Given the description of an element on the screen output the (x, y) to click on. 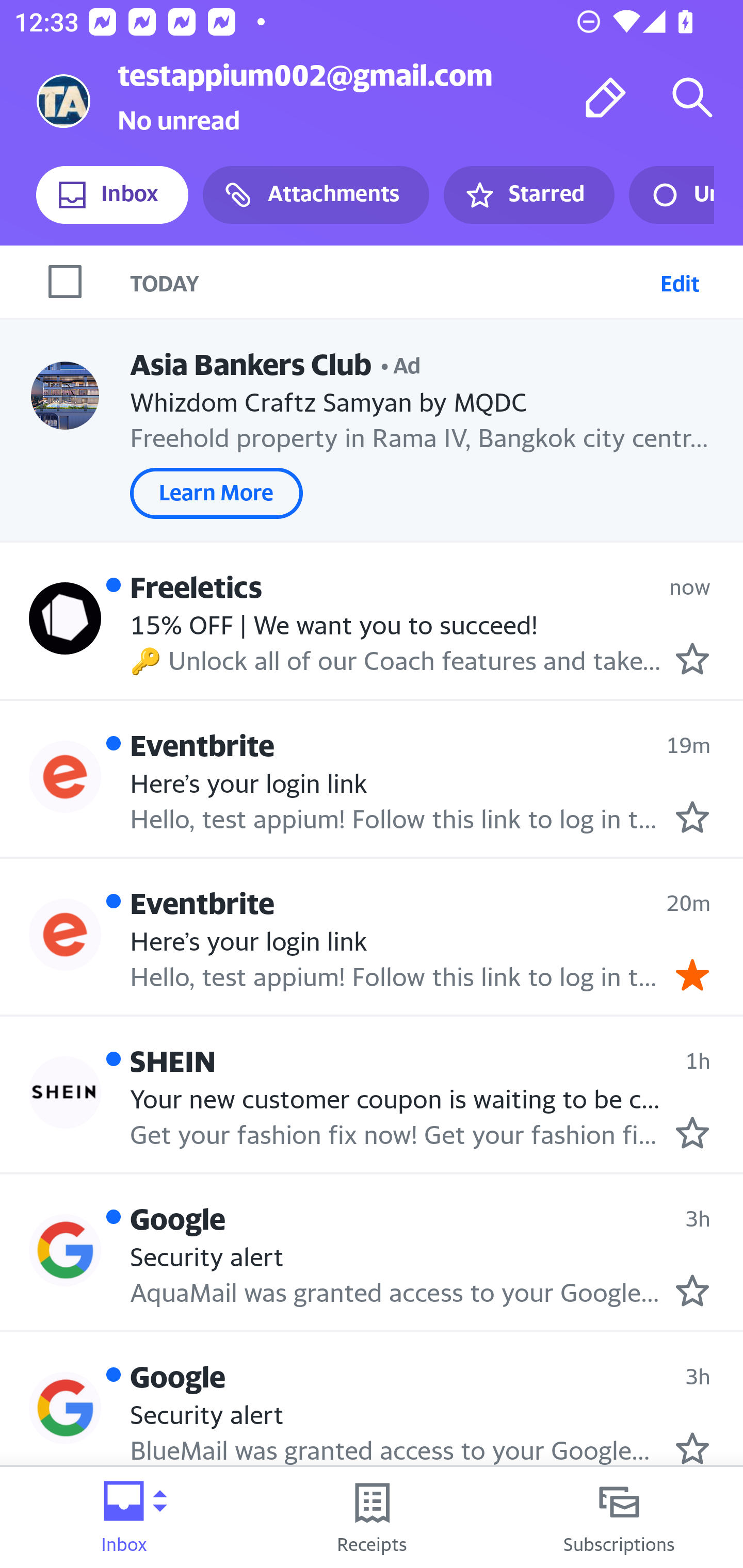
Compose (605, 97)
Search mail (692, 97)
Attachments (315, 195)
Starred (528, 195)
TODAY (391, 281)
Edit Select emails (679, 281)
Profile
Freeletics (64, 617)
Mark as starred. (692, 659)
Profile
Eventbrite (64, 776)
Mark as starred. (692, 817)
Profile
Eventbrite (64, 934)
Remove star. (692, 974)
Profile
SHEIN (64, 1092)
Mark as starred. (692, 1132)
Profile
Google (64, 1249)
Mark as starred. (692, 1291)
Profile
Google (64, 1408)
Mark as starred. (692, 1448)
Inbox Folder picker (123, 1517)
Receipts (371, 1517)
Subscriptions (619, 1517)
